Given the description of an element on the screen output the (x, y) to click on. 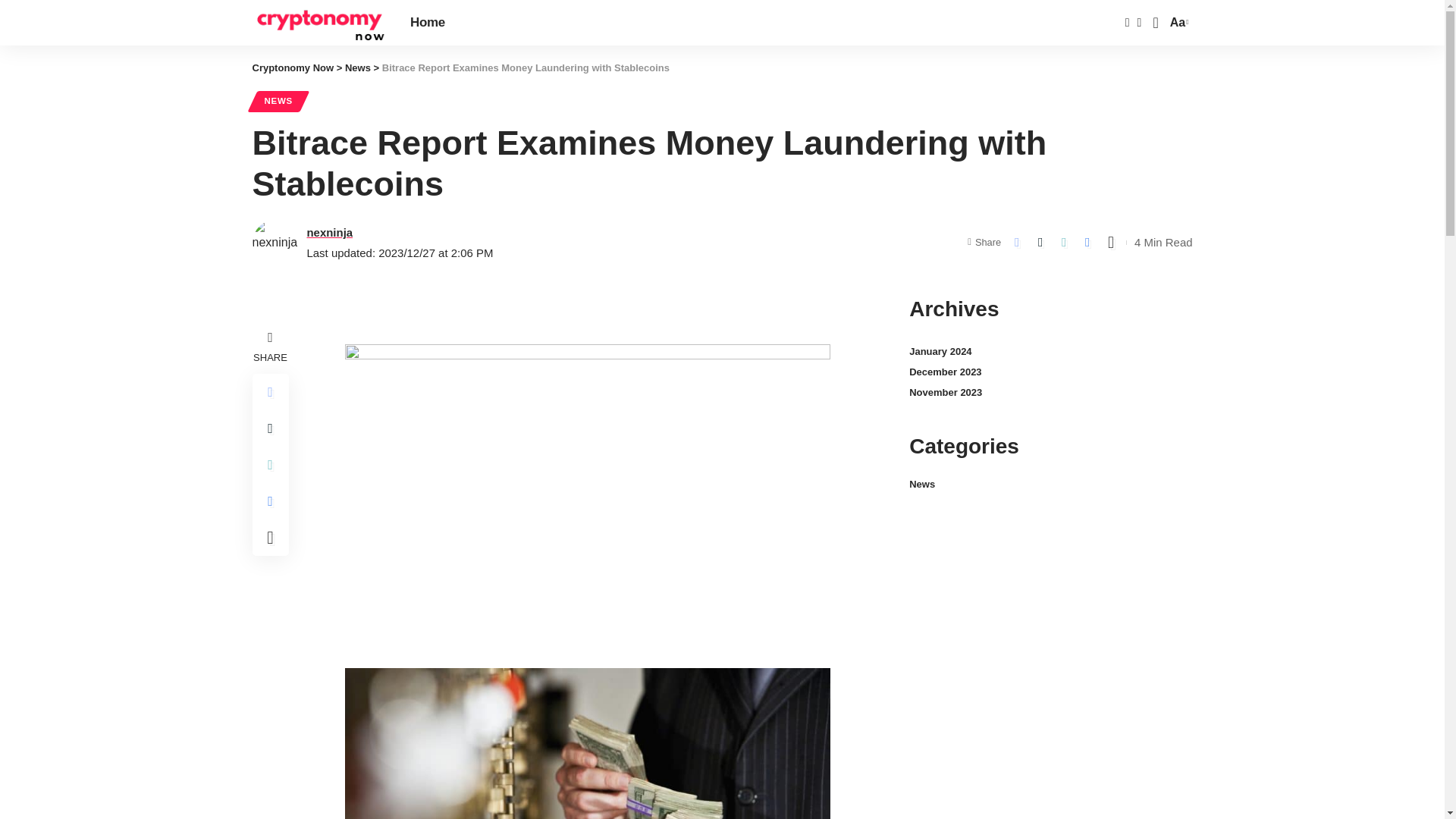
Go to the News Category archives. (358, 67)
Home (427, 22)
Cryptonomy Now (292, 67)
Cryptonomy Now (318, 22)
Go to Cryptonomy Now. (1177, 22)
NEWS (292, 67)
nexninja (277, 101)
News (328, 231)
